Given the description of an element on the screen output the (x, y) to click on. 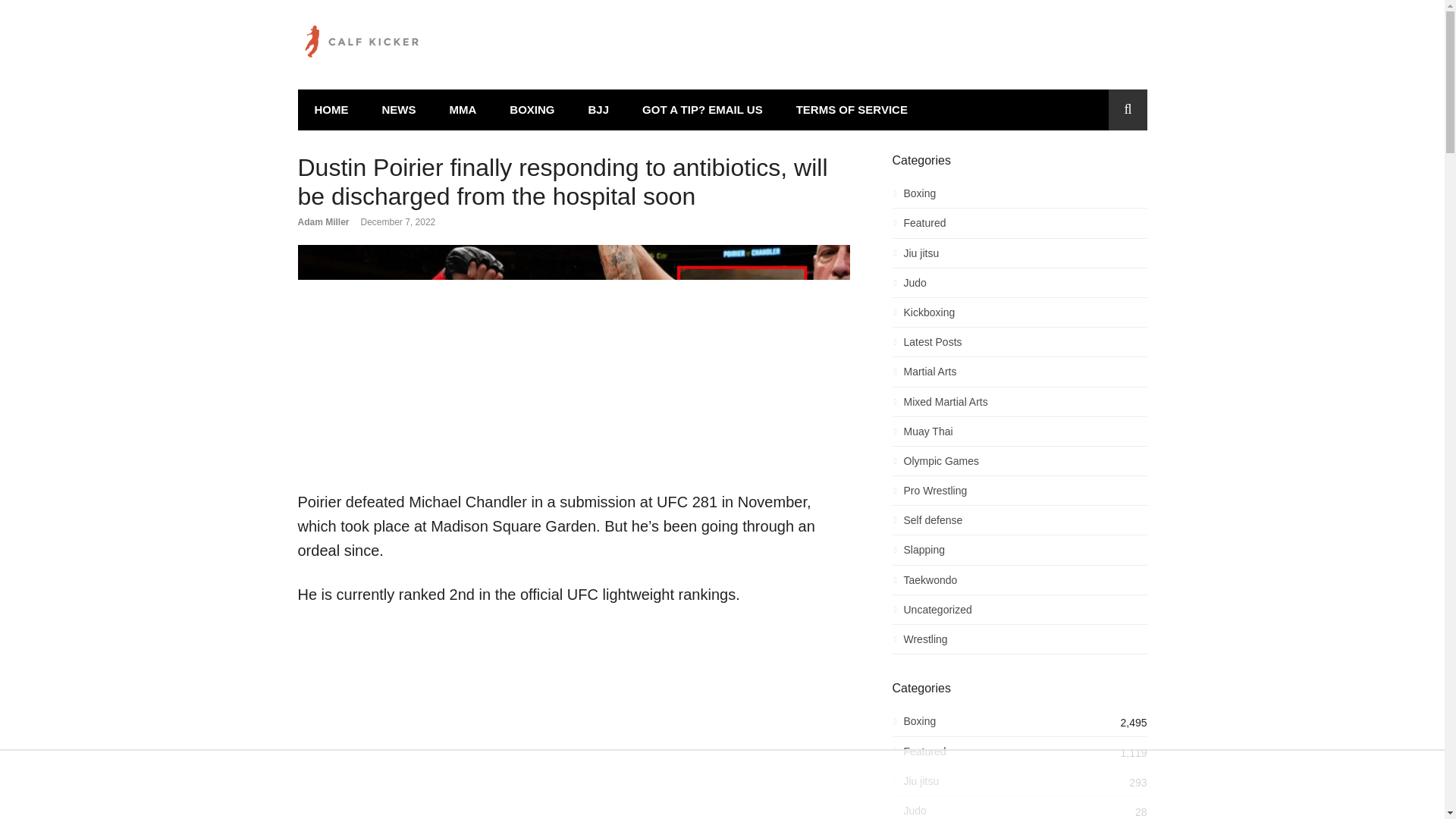
Kickboxing (1019, 316)
Boxing (1019, 197)
Jiu jitsu (1019, 257)
Pro Wrestling (1019, 495)
BOXING (531, 109)
HOME (331, 109)
Olympic Games (1019, 464)
GOT A TIP? EMAIL US (702, 109)
Featured (1019, 227)
BJJ (599, 109)
